Given the description of an element on the screen output the (x, y) to click on. 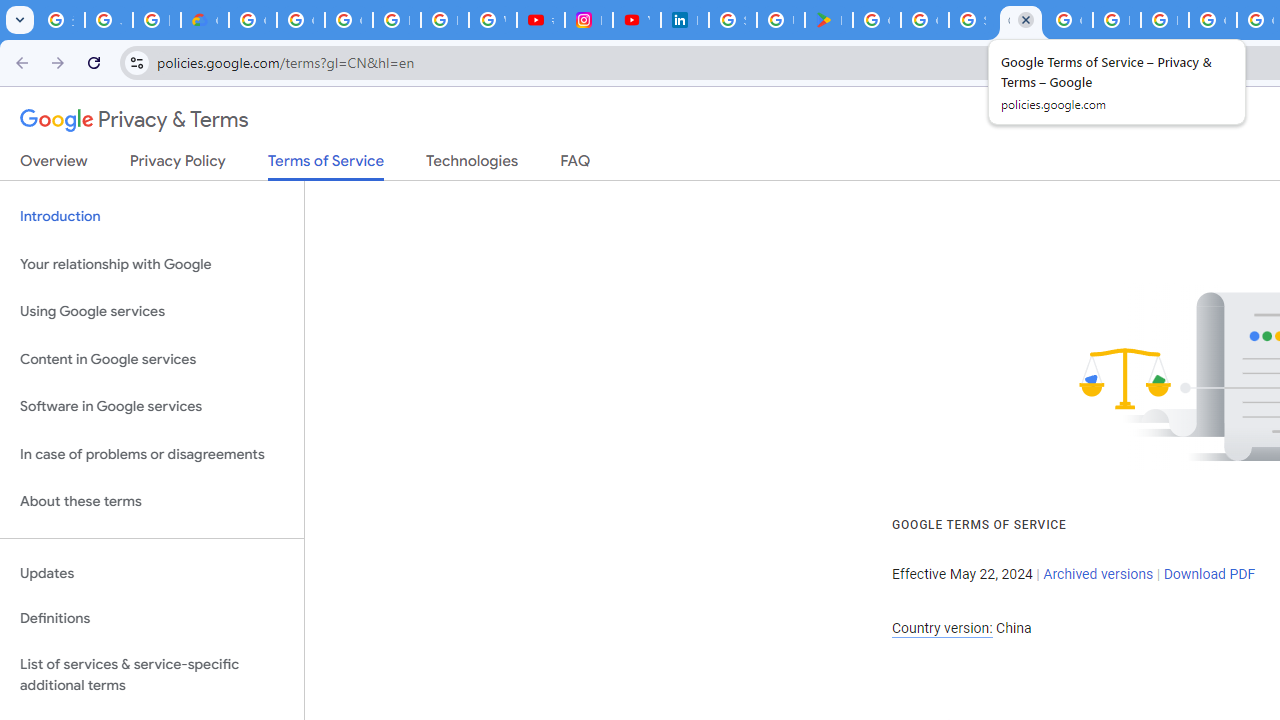
Country version: (942, 628)
About these terms (152, 502)
Google Workspace - Specific Terms (924, 20)
YouTube Culture & Trends - On The Rise: Handcam Videos (636, 20)
Updates (152, 573)
